Given the description of an element on the screen output the (x, y) to click on. 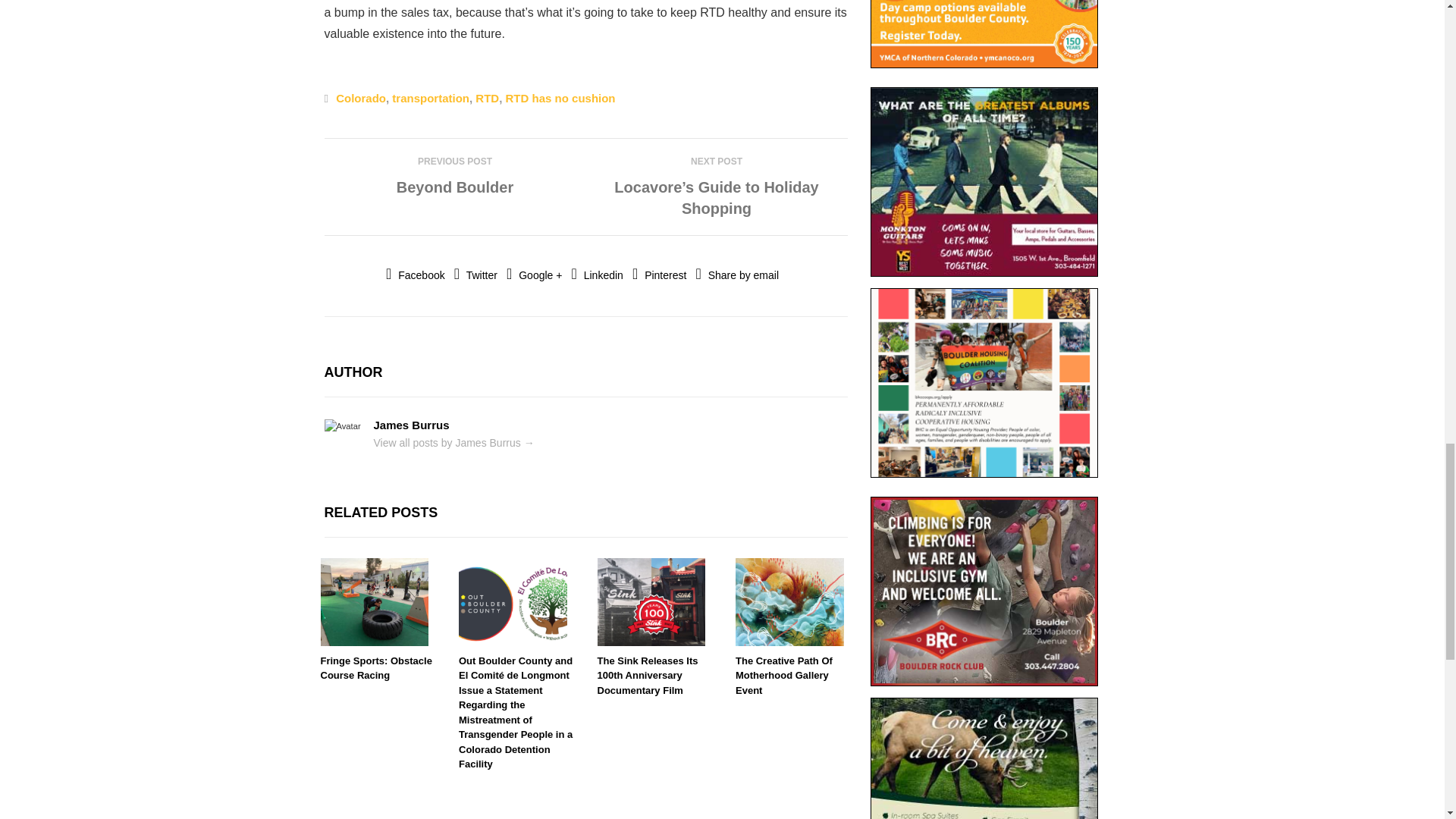
Share by email (736, 275)
Share on Pinterest (658, 275)
Share this post on Linkedin! (597, 275)
Share this post on Facebook! (415, 275)
Share this post on Twitter! (475, 275)
Share this post on Google Plus! (534, 275)
